Given the description of an element on the screen output the (x, y) to click on. 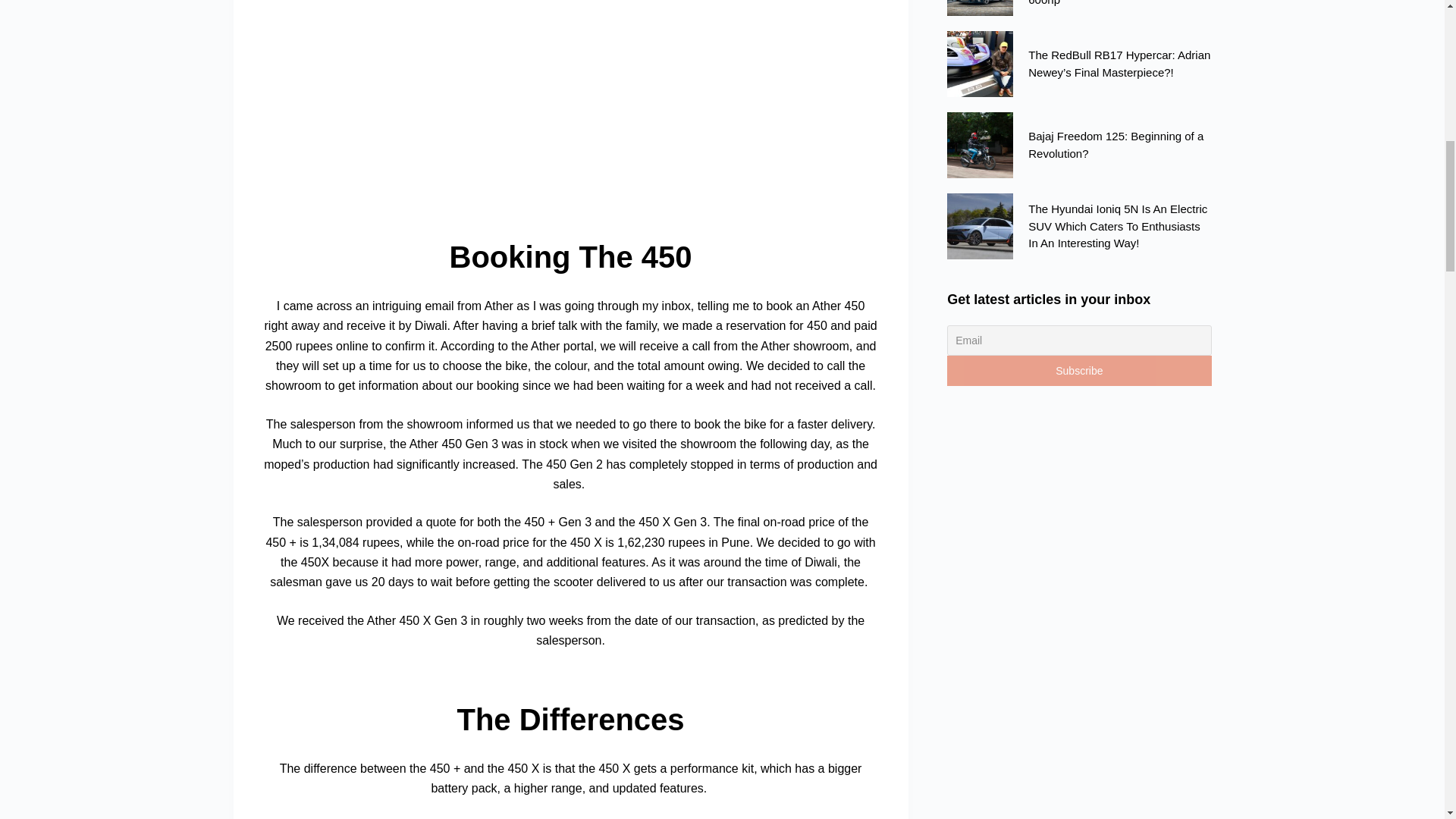
Subscribe (1079, 370)
